Given the description of an element on the screen output the (x, y) to click on. 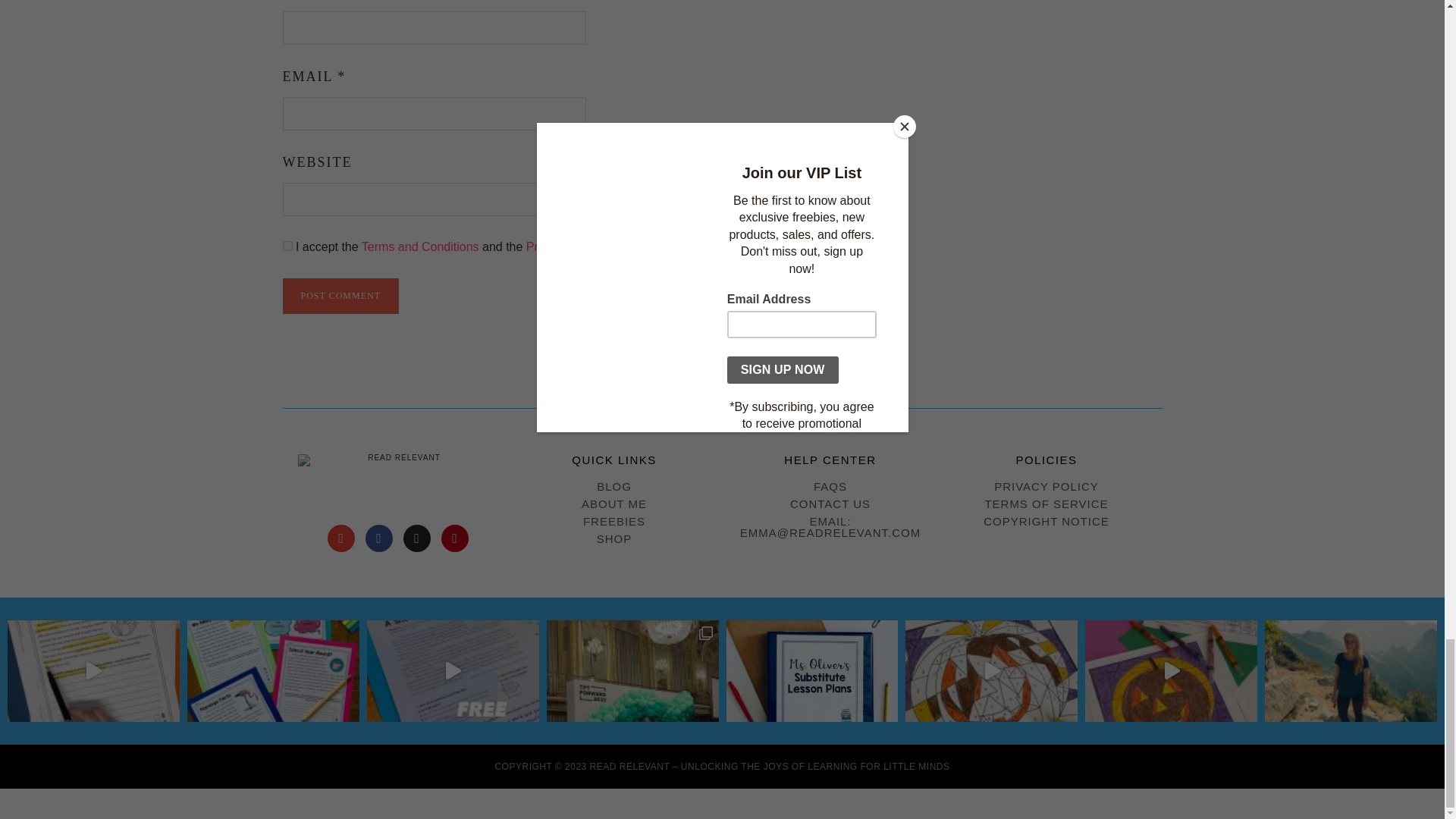
1 (287, 245)
Post Comment (339, 295)
